Given the description of an element on the screen output the (x, y) to click on. 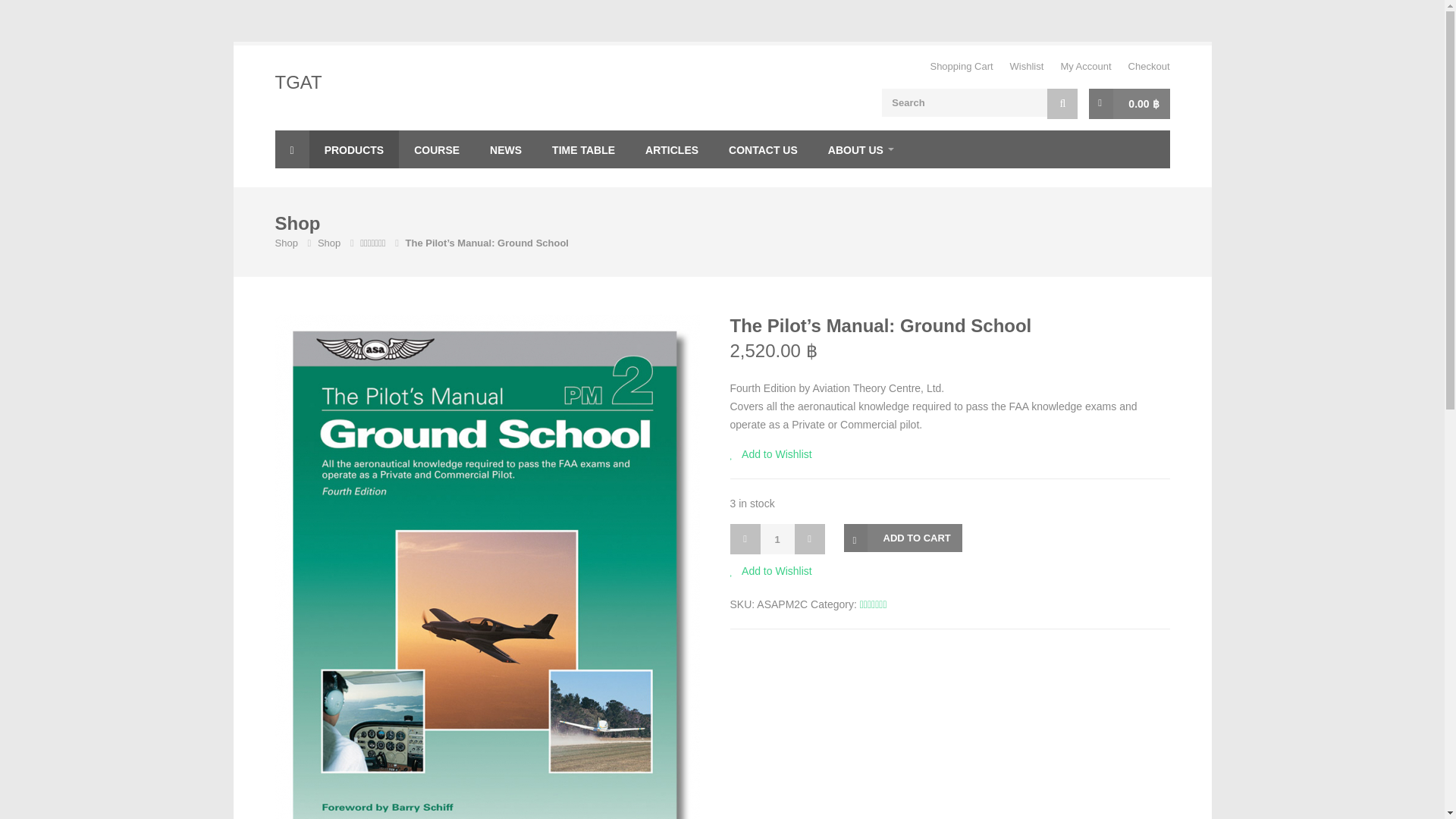
CONTACT US (762, 149)
Qty (776, 539)
Add to Wishlist (769, 570)
Add to Wishlist (769, 454)
1 (776, 539)
TIME TABLE (583, 149)
ADD TO CART (901, 538)
Shop (328, 242)
NEWS (505, 149)
ABOUT US (859, 149)
PRODUCTS (353, 149)
Shop (286, 242)
TGAT (298, 82)
ARTICLES (671, 149)
